Given the description of an element on the screen output the (x, y) to click on. 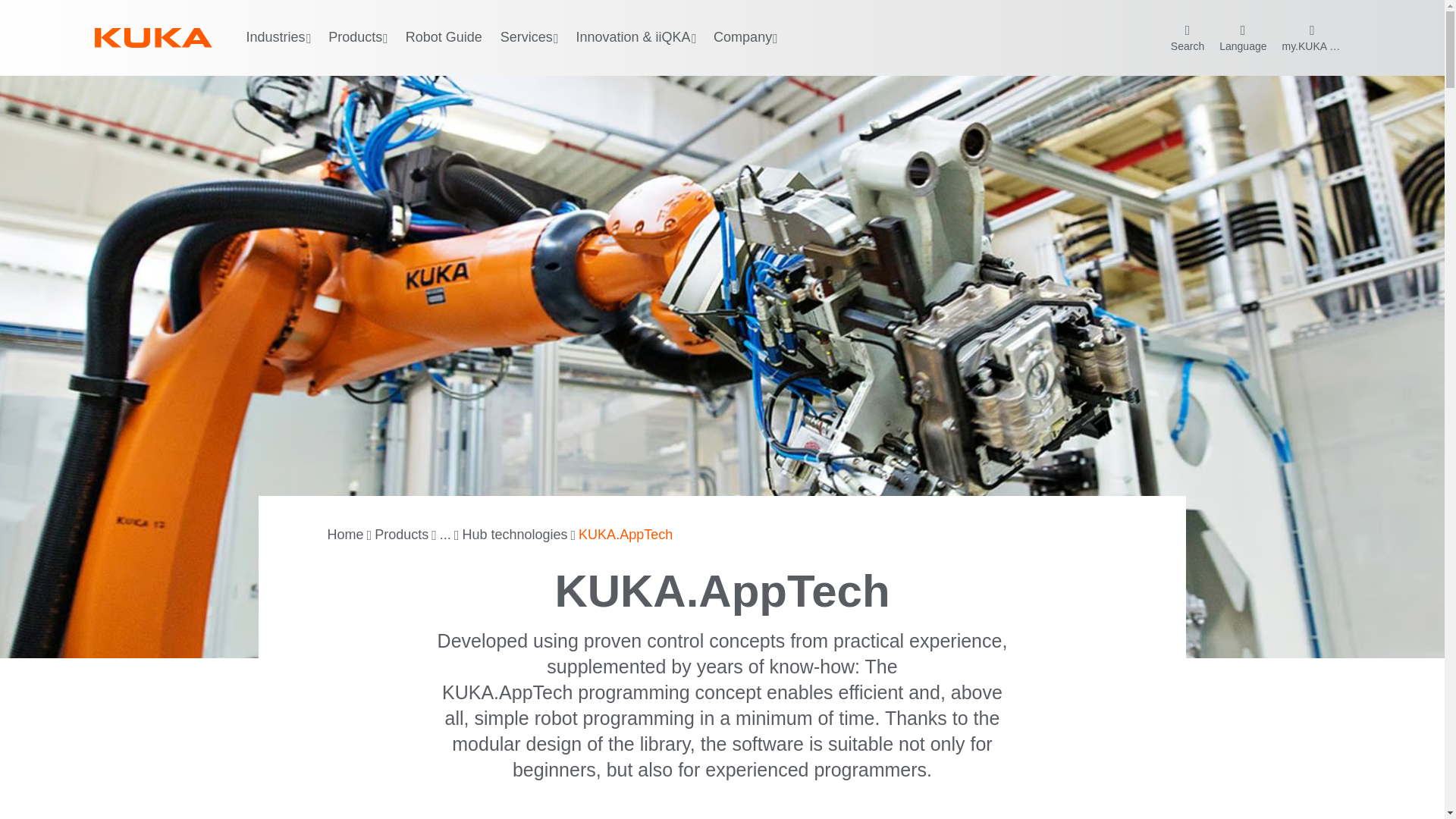
KUKA.AppTech (625, 535)
Home (345, 535)
Products (401, 535)
Hub technologies (514, 535)
